Given the description of an element on the screen output the (x, y) to click on. 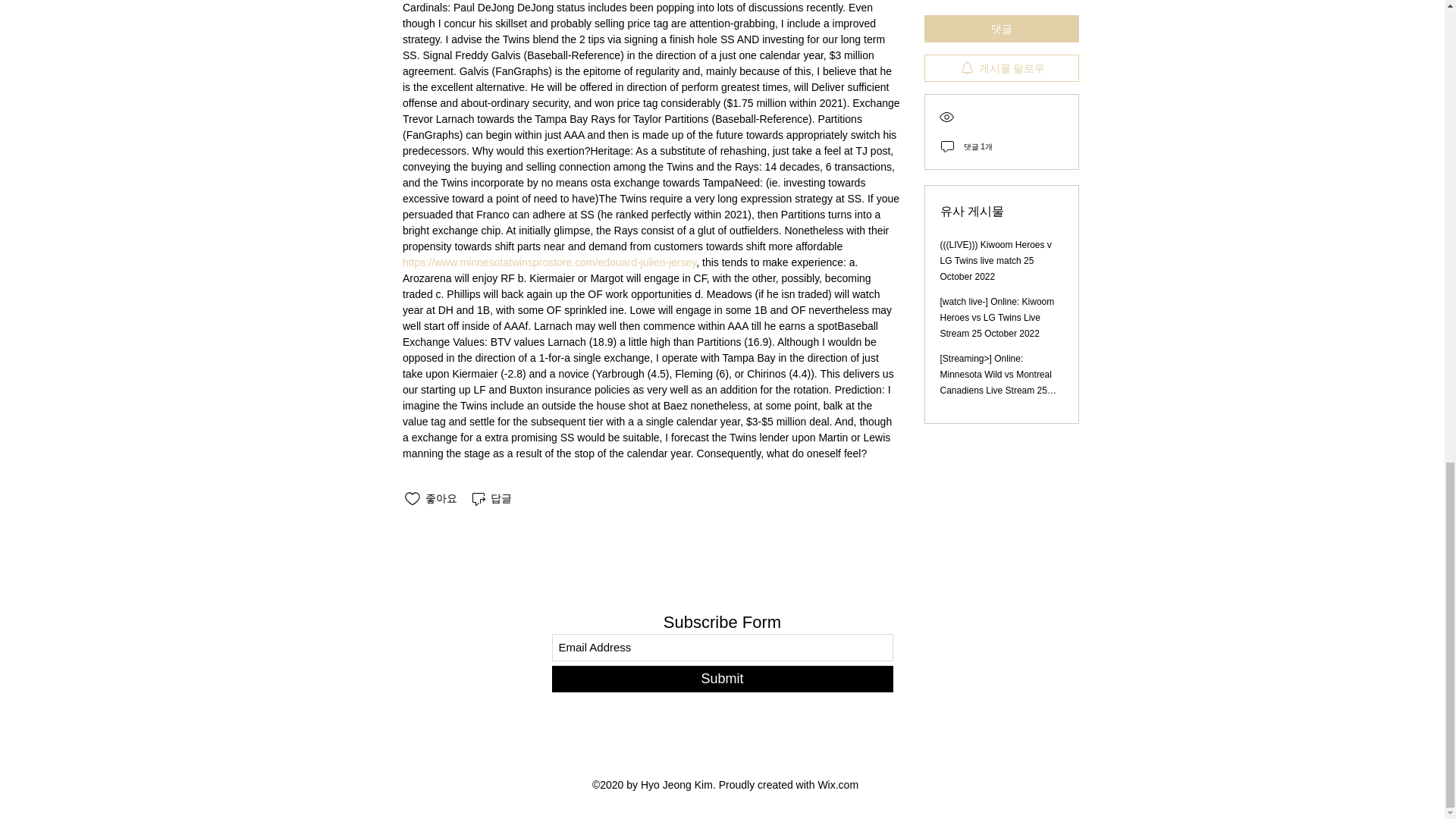
Submit (722, 678)
